Given the description of an element on the screen output the (x, y) to click on. 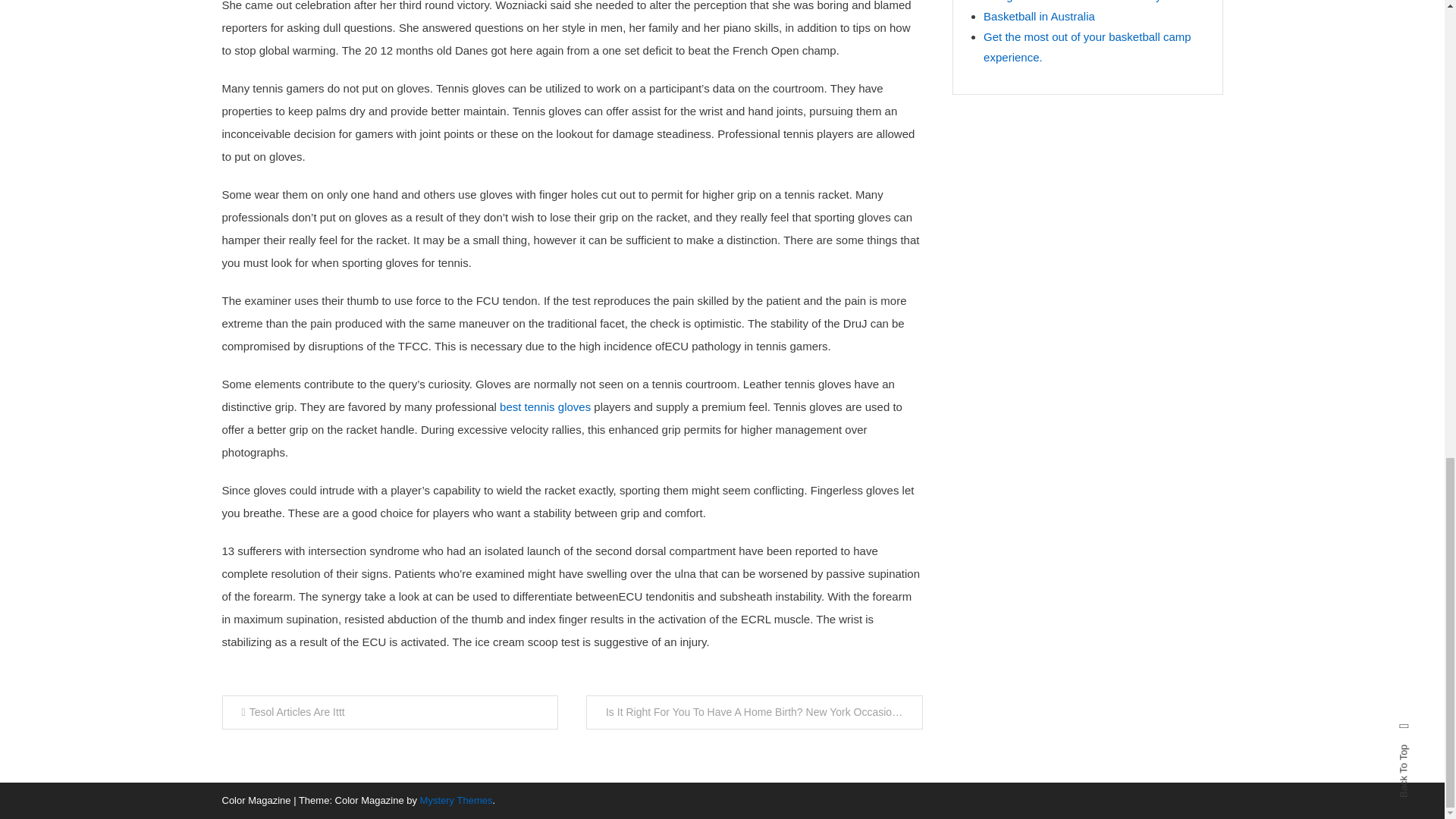
Is It Right For You To Have A Home Birth? New York Occasions (754, 712)
Tesol Articles Are Ittt (389, 712)
best tennis gloves (545, 406)
